Given the description of an element on the screen output the (x, y) to click on. 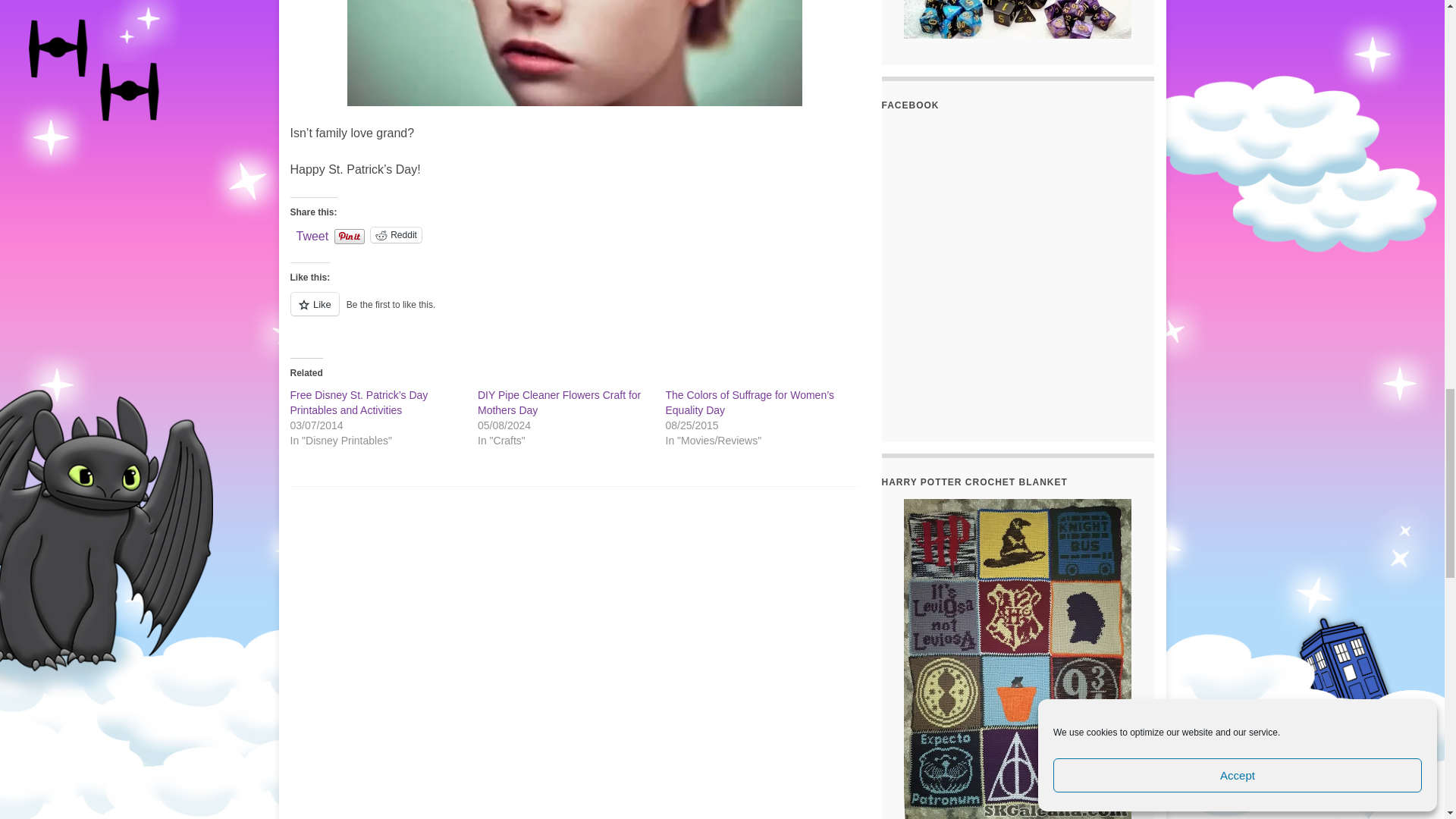
DIY Pipe Cleaner Flowers Craft for Mothers Day (558, 402)
Like or Reblog (574, 312)
Click to share on Reddit (396, 234)
